Given the description of an element on the screen output the (x, y) to click on. 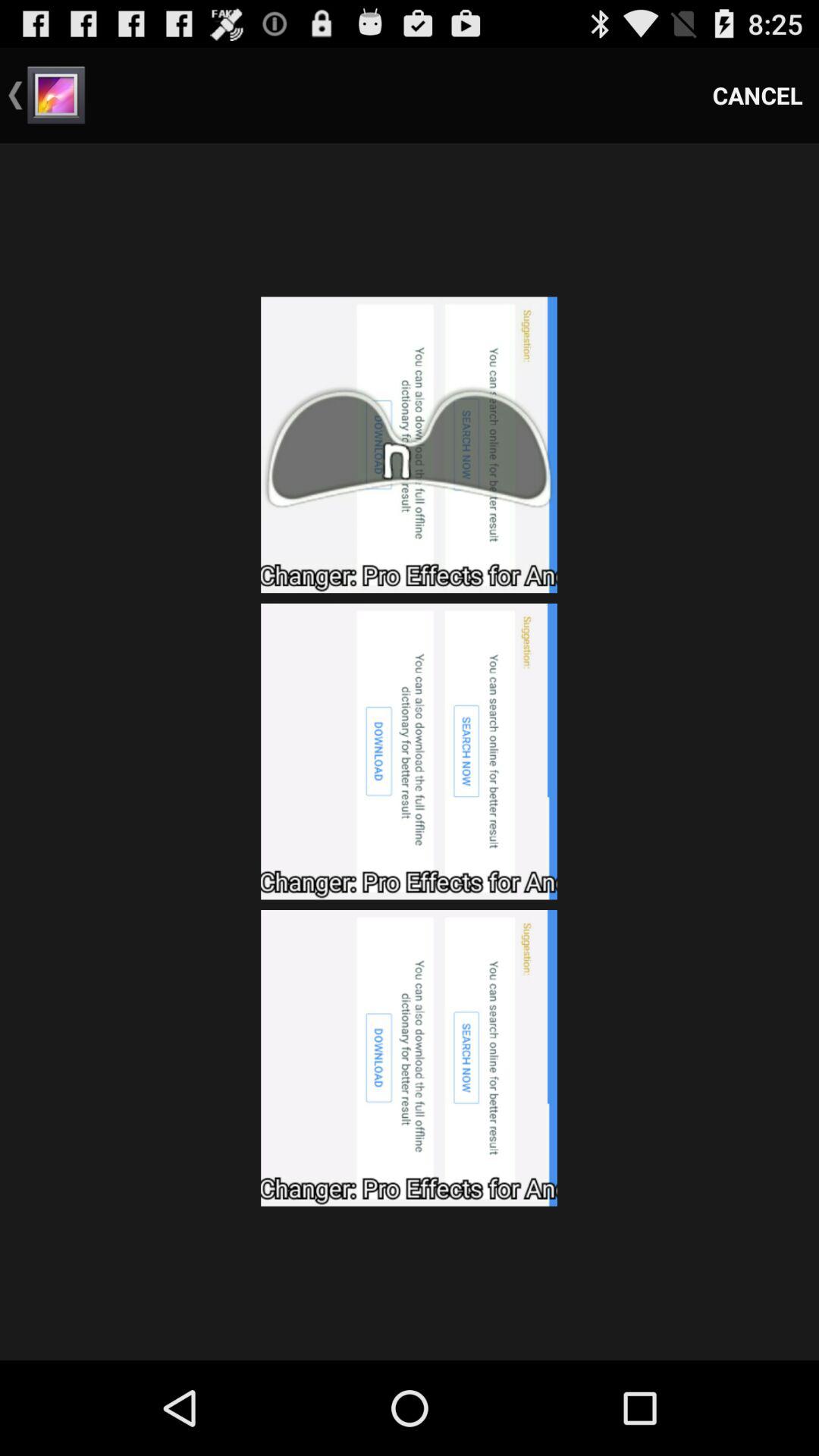
flip until the cancel item (757, 95)
